Given the description of an element on the screen output the (x, y) to click on. 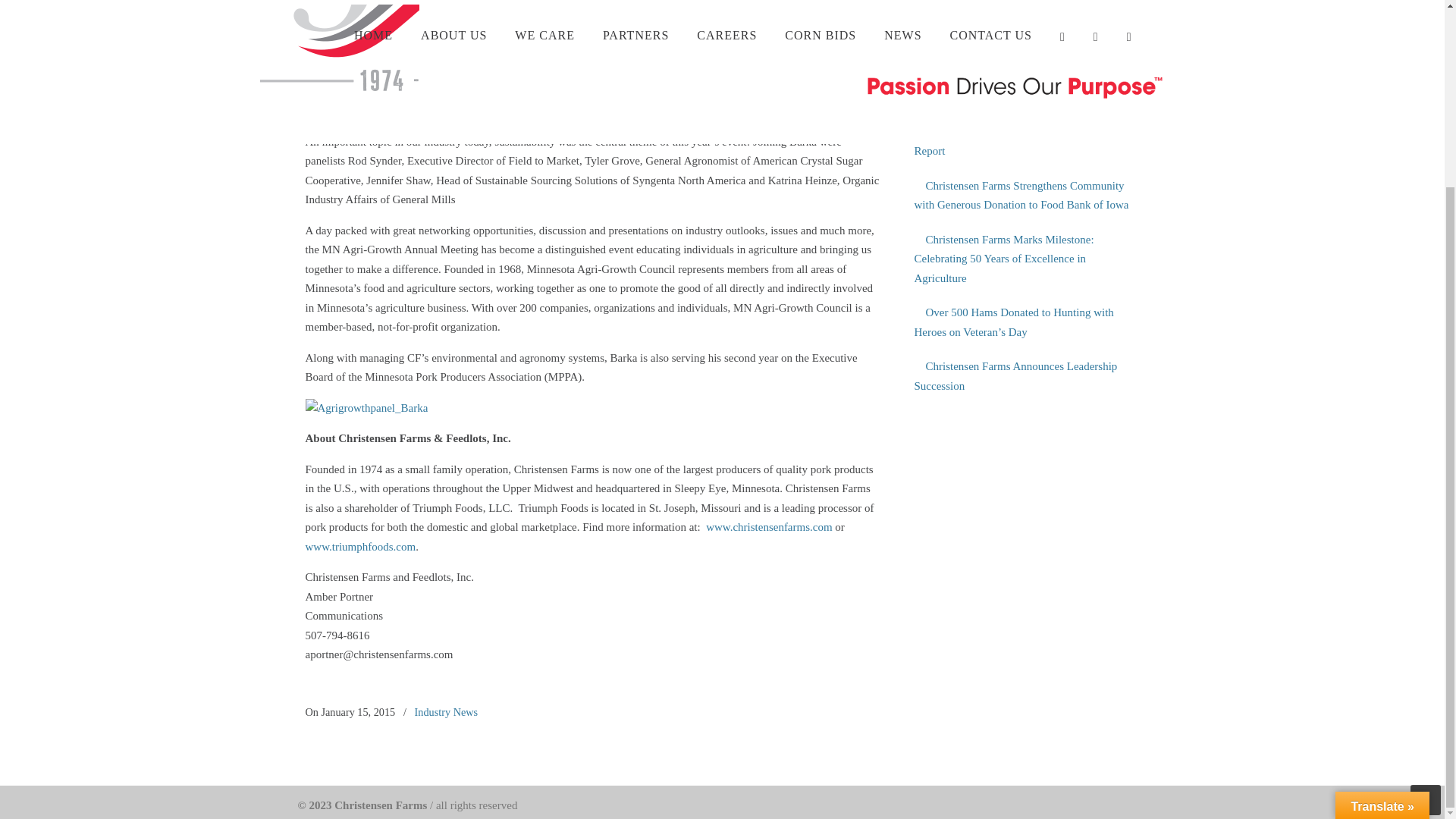
Industry News (446, 711)
www.christensenfarms.com (768, 526)
www.triumphfoods.com (359, 546)
Christensen Farms Announces Leadership Succession (1024, 376)
